Given the description of an element on the screen output the (x, y) to click on. 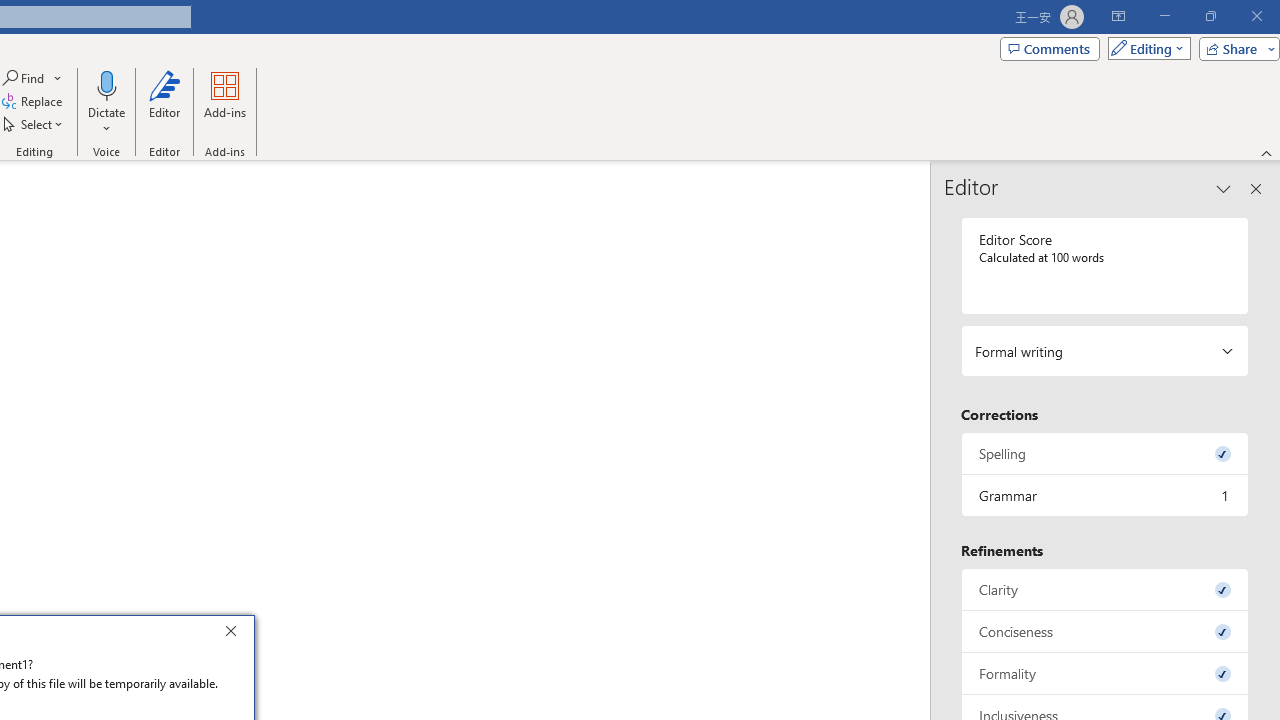
Spelling, 0 issues. Press space or enter to review items. (1105, 452)
Formality, 0 issues. Press space or enter to review items. (1105, 673)
Dictate (106, 102)
Close (236, 633)
Clarity, 0 issues. Press space or enter to review items. (1105, 588)
Conciseness, 0 issues. Press space or enter to review items. (1105, 631)
